Given the description of an element on the screen output the (x, y) to click on. 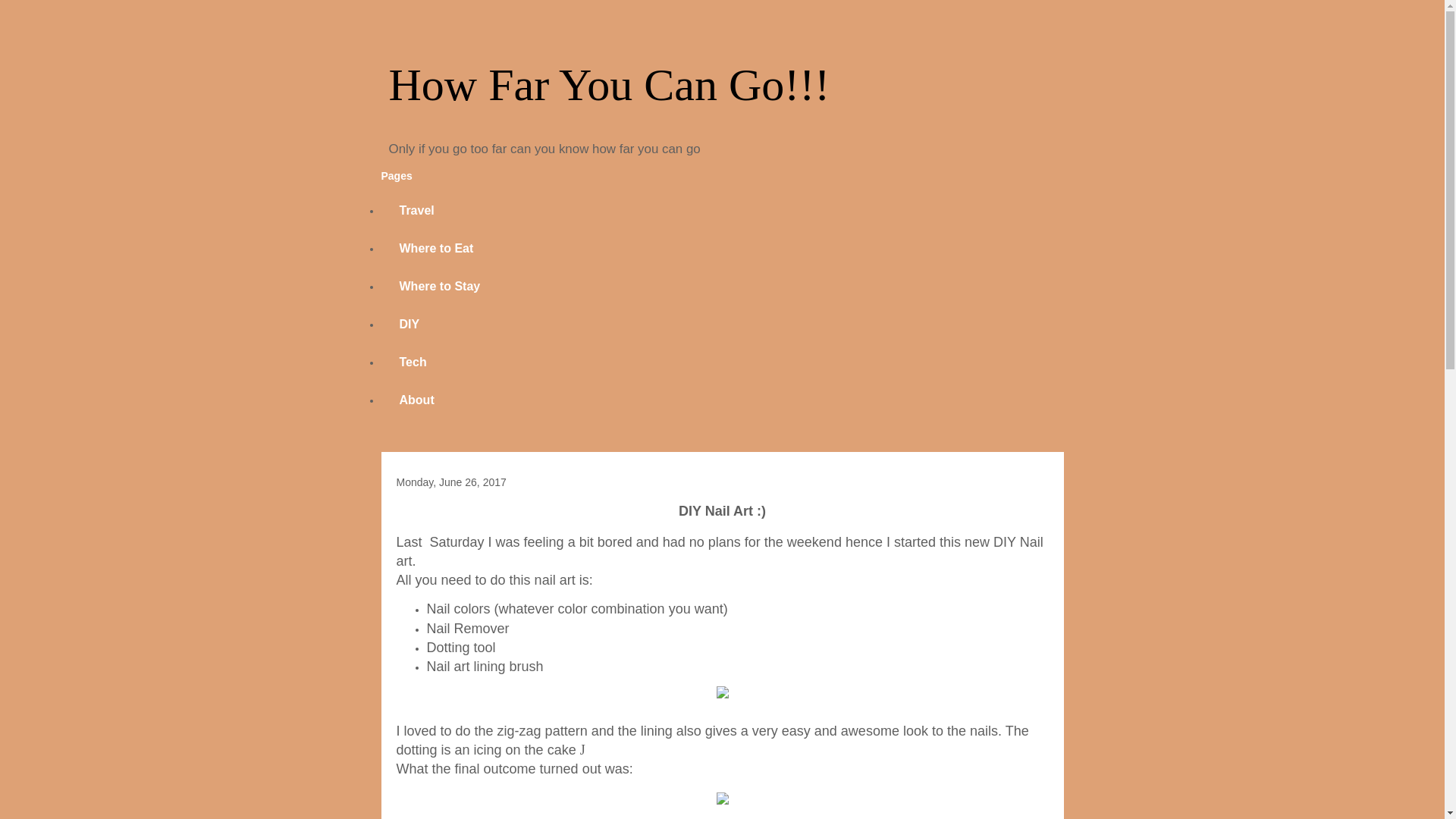
DIY (409, 324)
Where to Eat (436, 248)
Where to Stay (438, 286)
Tech (412, 362)
How Far You Can Go!!! (608, 84)
Travel (415, 210)
About (415, 400)
